Given the description of an element on the screen output the (x, y) to click on. 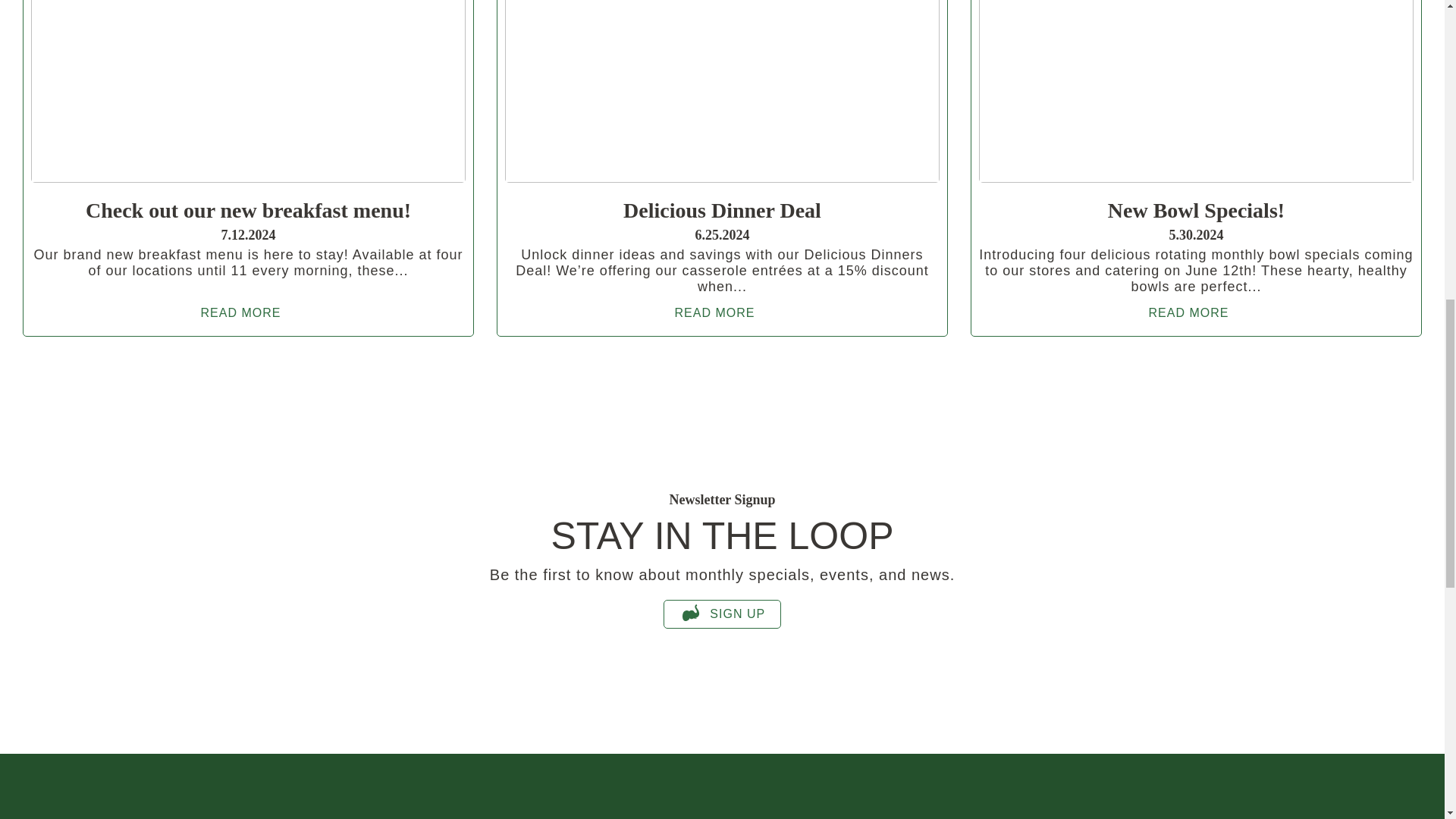
READ MORE (248, 313)
SIGN UP (721, 613)
READ MORE (722, 313)
READ MORE (1195, 313)
